Given the description of an element on the screen output the (x, y) to click on. 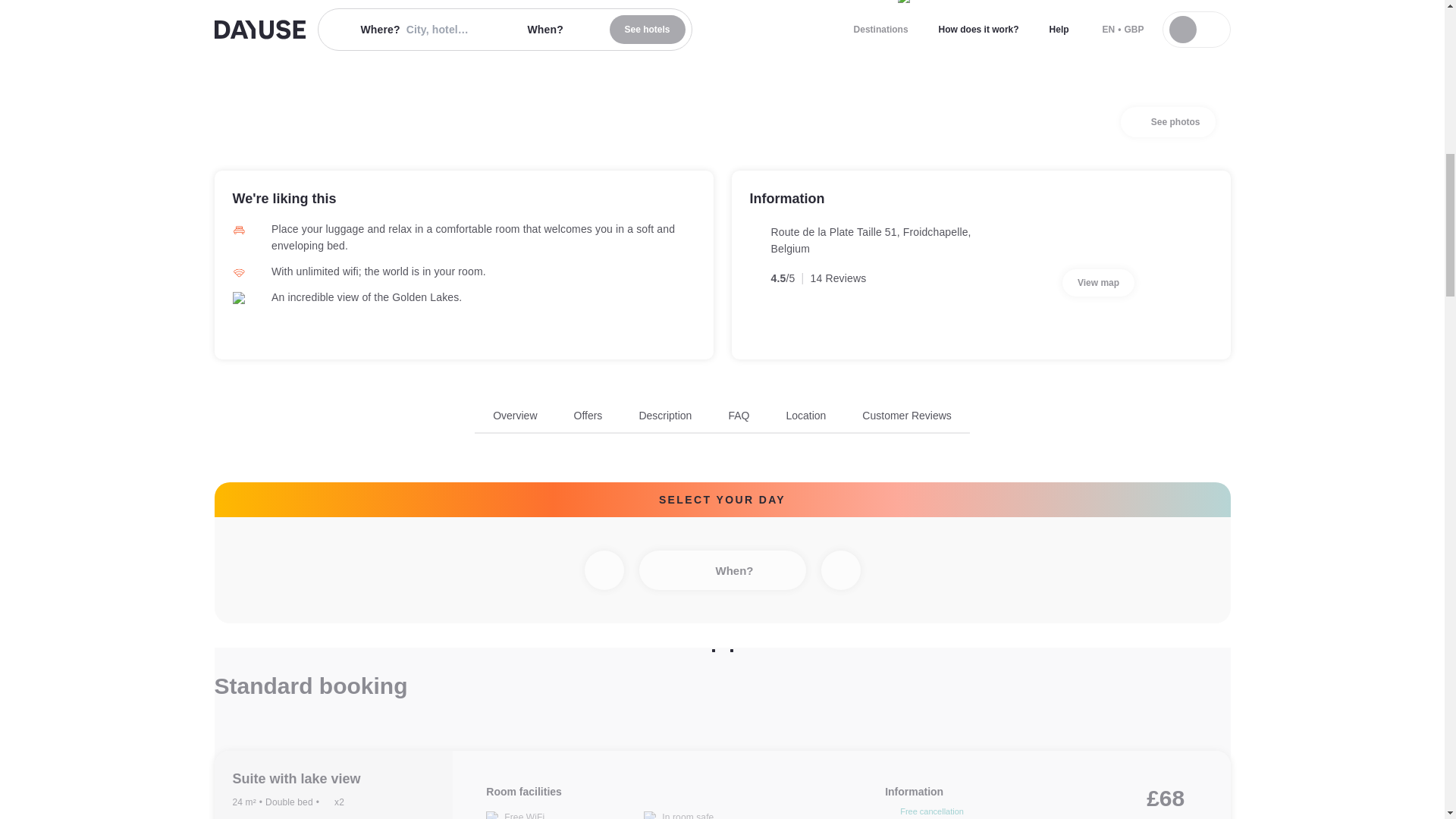
Previous day (603, 569)
When? (722, 569)
Offers (587, 415)
Location (805, 415)
Description (665, 415)
Overview (515, 415)
Next day (840, 569)
See photos (721, 420)
View map (1168, 122)
Customer Reviews (1098, 282)
FAQ (905, 415)
